Given the description of an element on the screen output the (x, y) to click on. 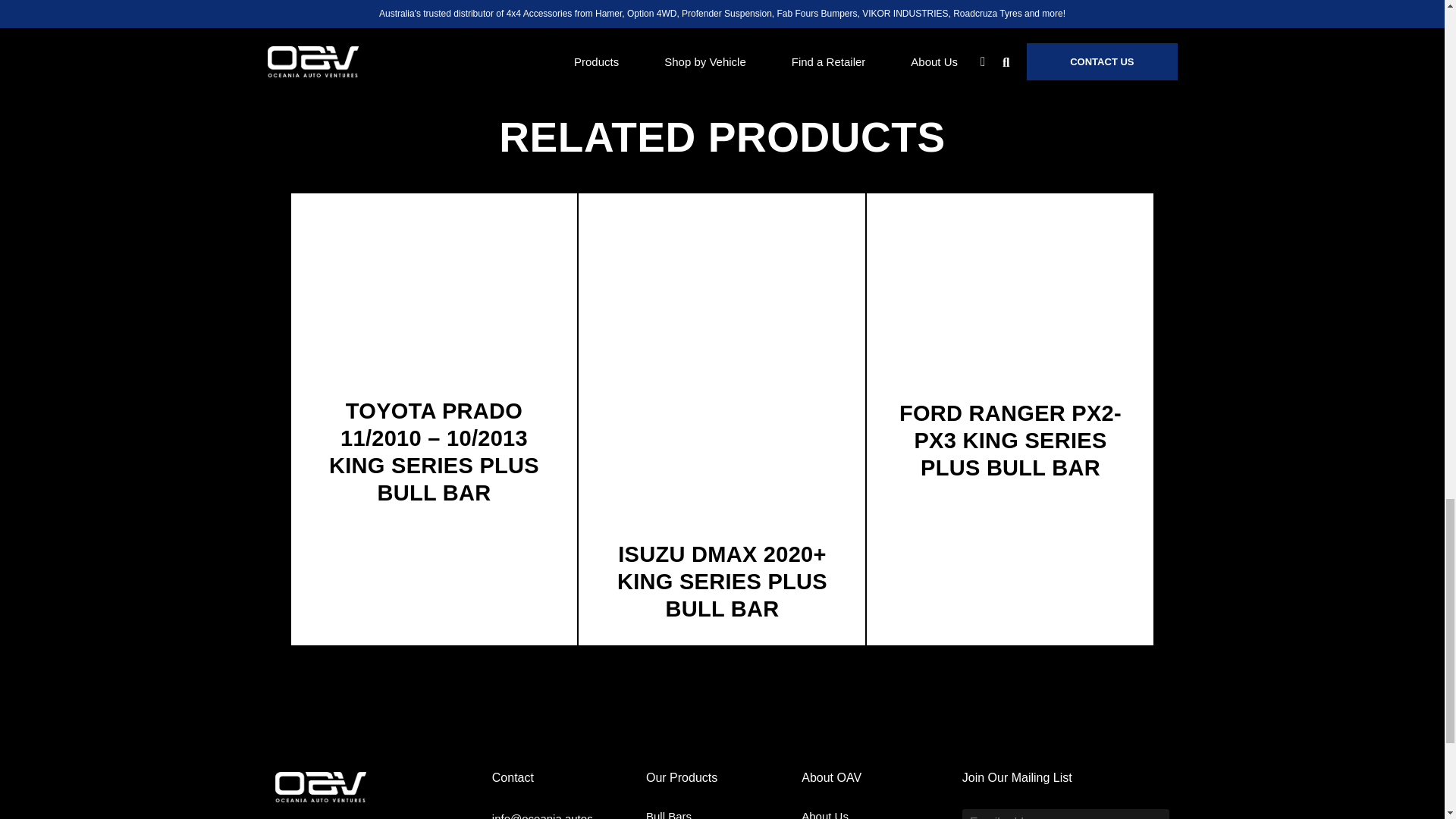
Submit (1153, 814)
